Given the description of an element on the screen output the (x, y) to click on. 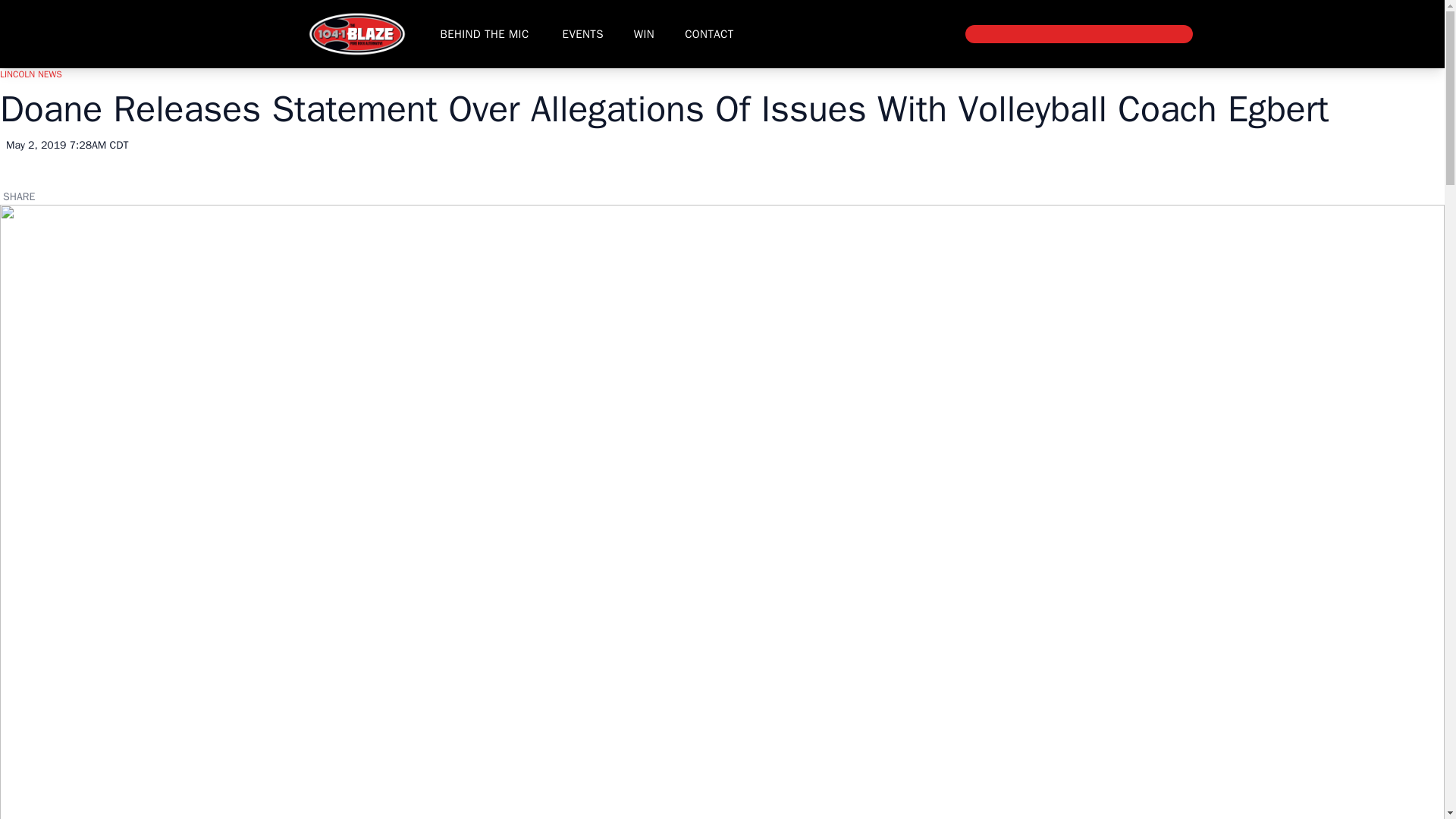
BEHIND THE MIC (483, 33)
104-1 The Blaze (355, 33)
